Given the description of an element on the screen output the (x, y) to click on. 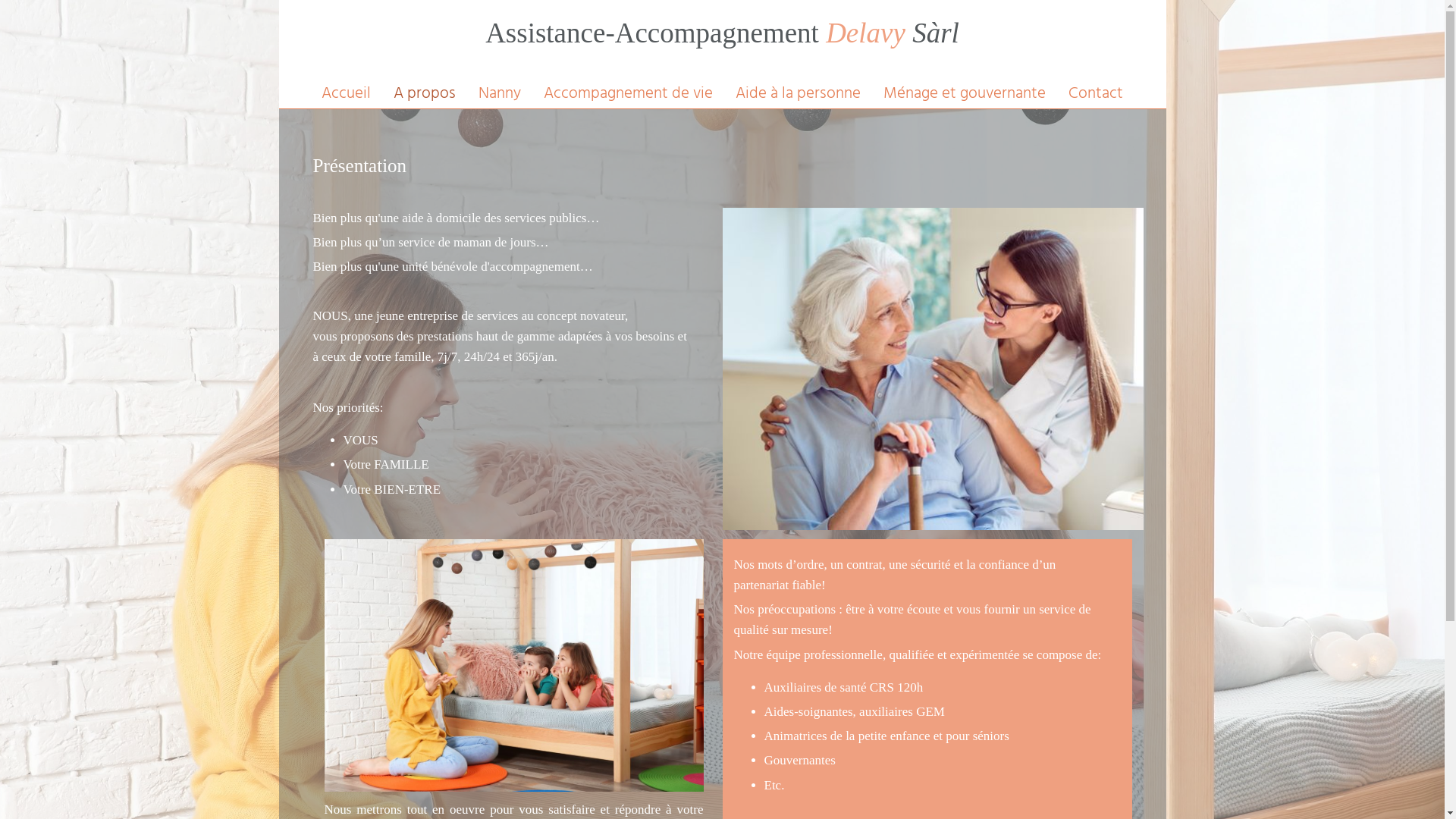
Accompagnement de vie Element type: text (627, 93)
A propos Element type: text (424, 93)
Accueil Element type: text (345, 93)
Nanny Element type: text (499, 93)
Contact Element type: text (1095, 93)
